Given the description of an element on the screen output the (x, y) to click on. 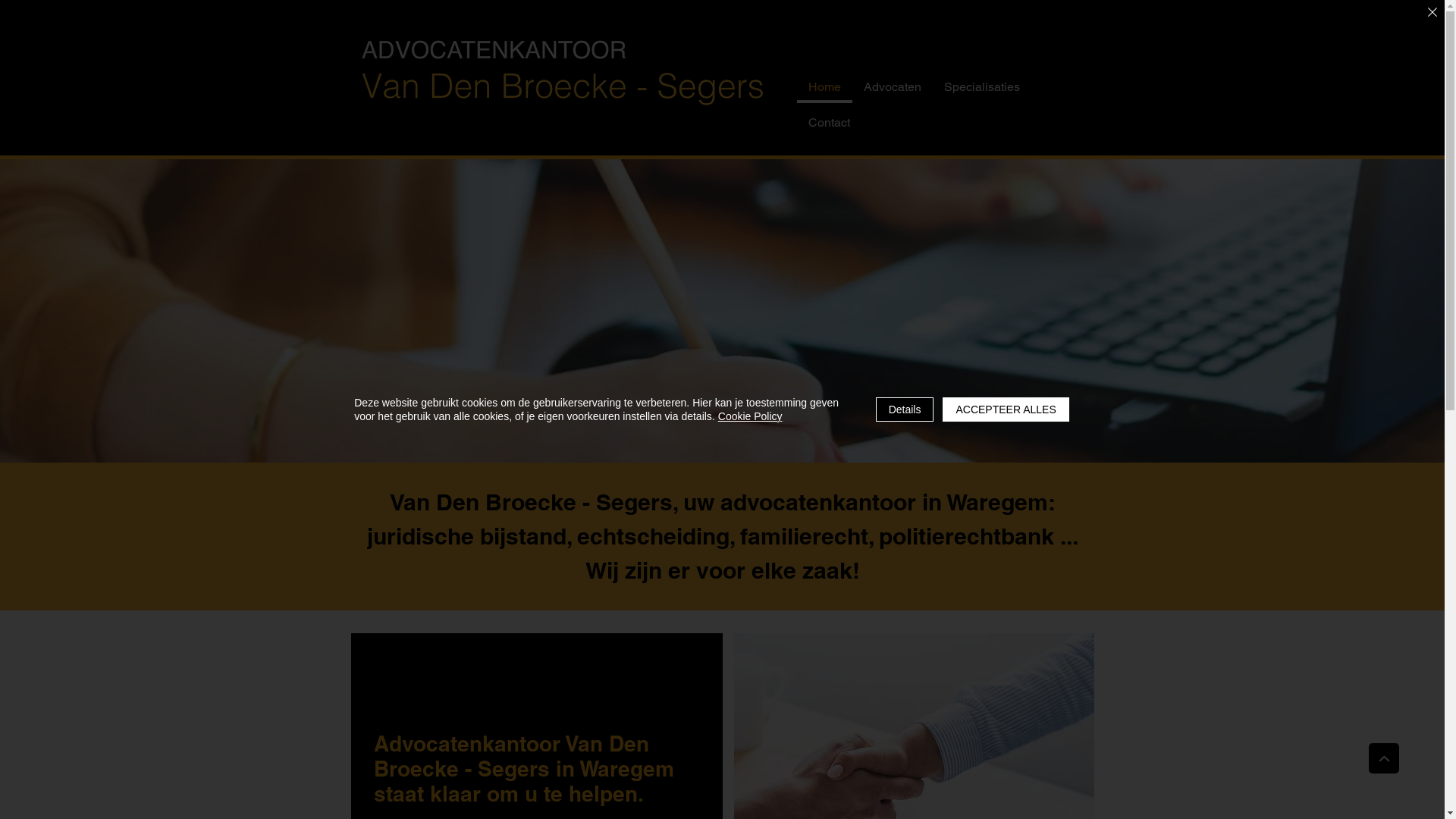
Advocaten Element type: text (892, 88)
Cookie Policy Element type: text (750, 416)
Specialisaties Element type: text (981, 88)
Home Element type: text (823, 88)
Contact Element type: text (828, 123)
Details Element type: text (904, 409)
ACCEPTEER ALLES Element type: text (1005, 409)
